Given the description of an element on the screen output the (x, y) to click on. 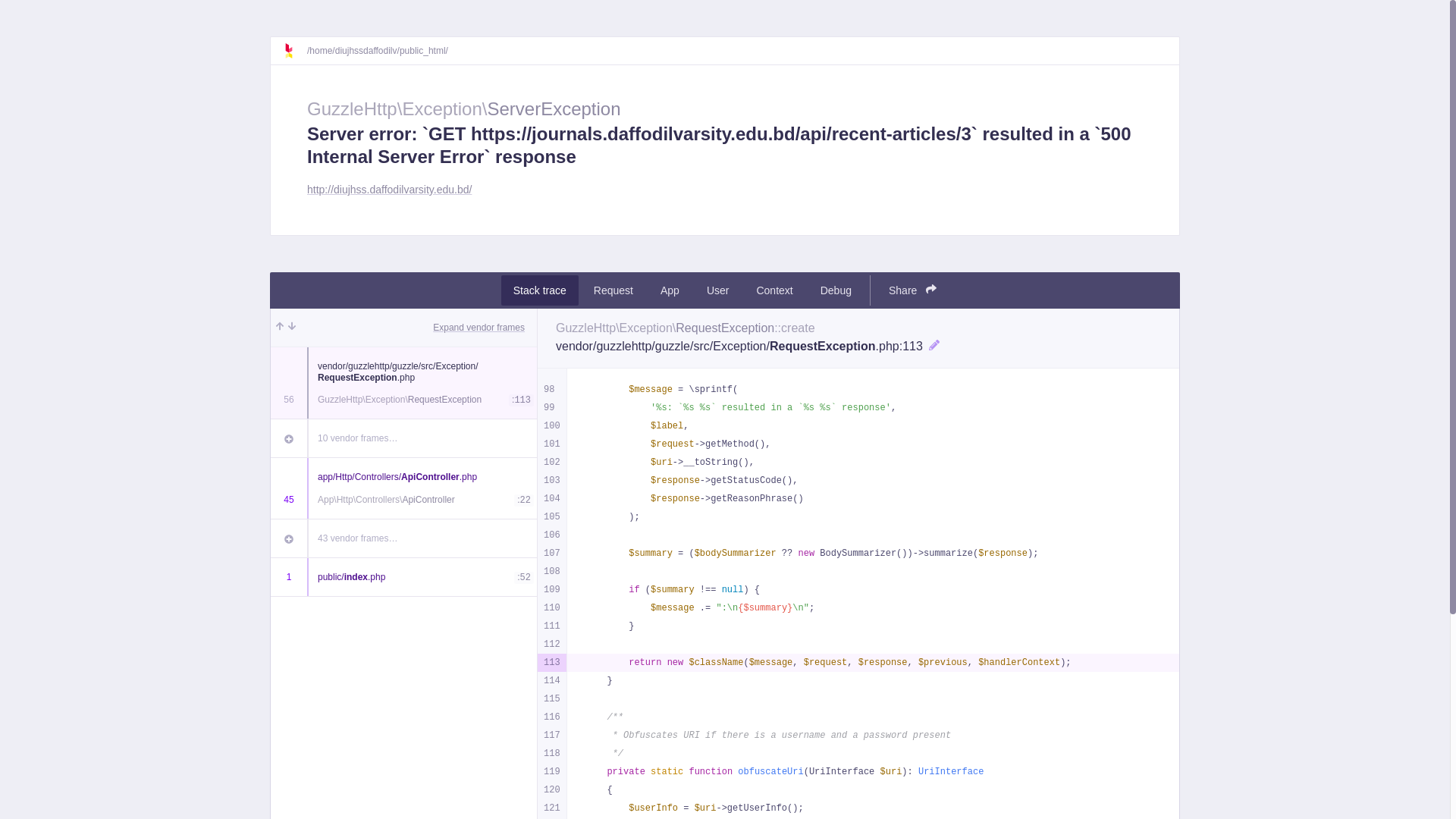
User Element type: text (717, 290)
Frame up (Key:K) Element type: hover (279, 327)
Request Element type: text (613, 290)
Expand vendor frames Element type: text (478, 327)
Debug Element type: text (835, 290)
Stack trace Element type: text (539, 290)
App Element type: text (669, 290)
Context Element type: text (773, 290)
Share Element type: text (912, 290)
http://diujhss.daffodilvarsity.edu.bd/ Element type: text (389, 190)
Frame down (Key:J) Element type: hover (291, 327)
Ignition docs Element type: hover (294, 50)
